Given the description of an element on the screen output the (x, y) to click on. 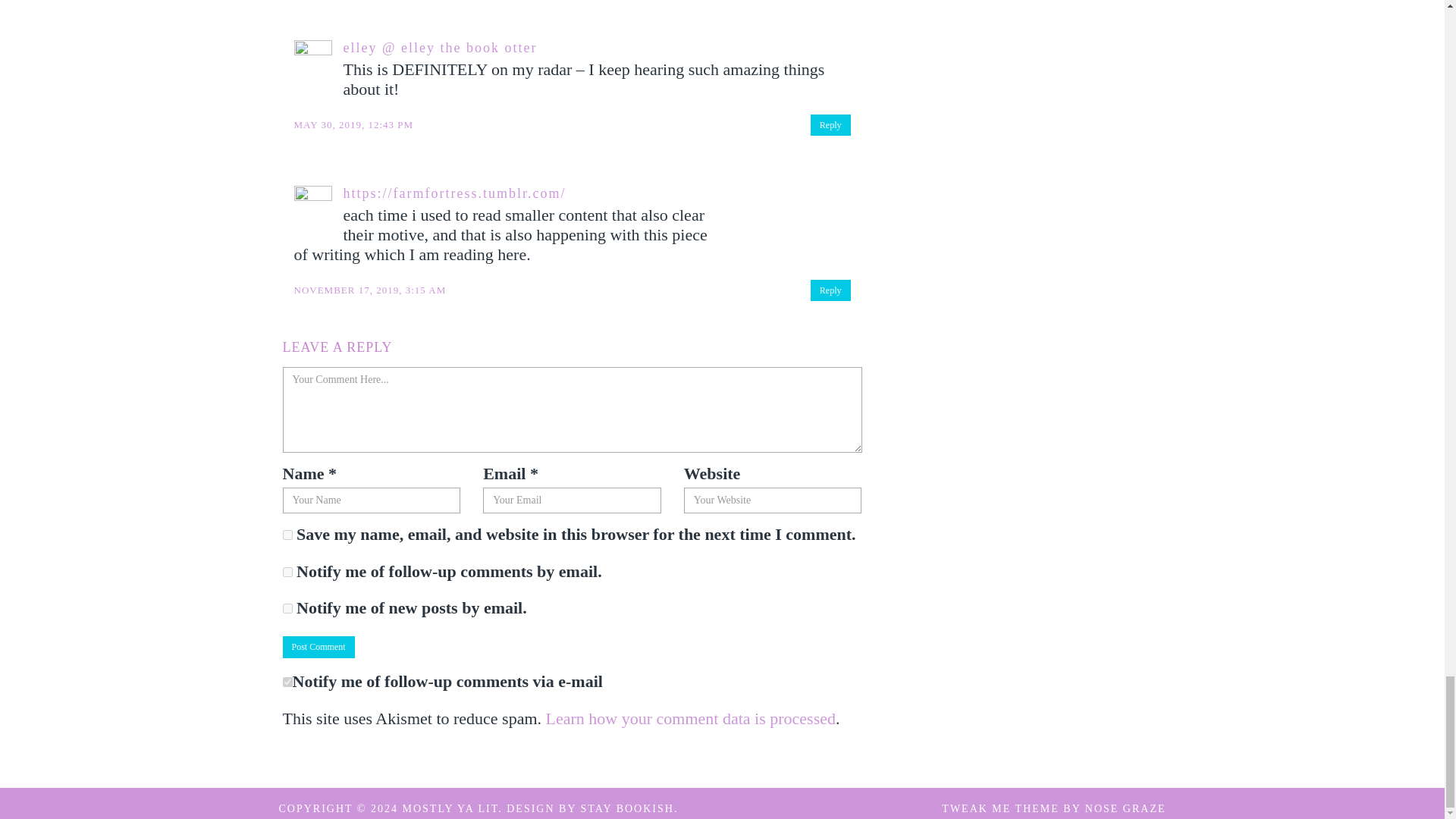
yes (287, 534)
Post Comment (317, 647)
subscribe (287, 572)
subscribe (287, 608)
